Given the description of an element on the screen output the (x, y) to click on. 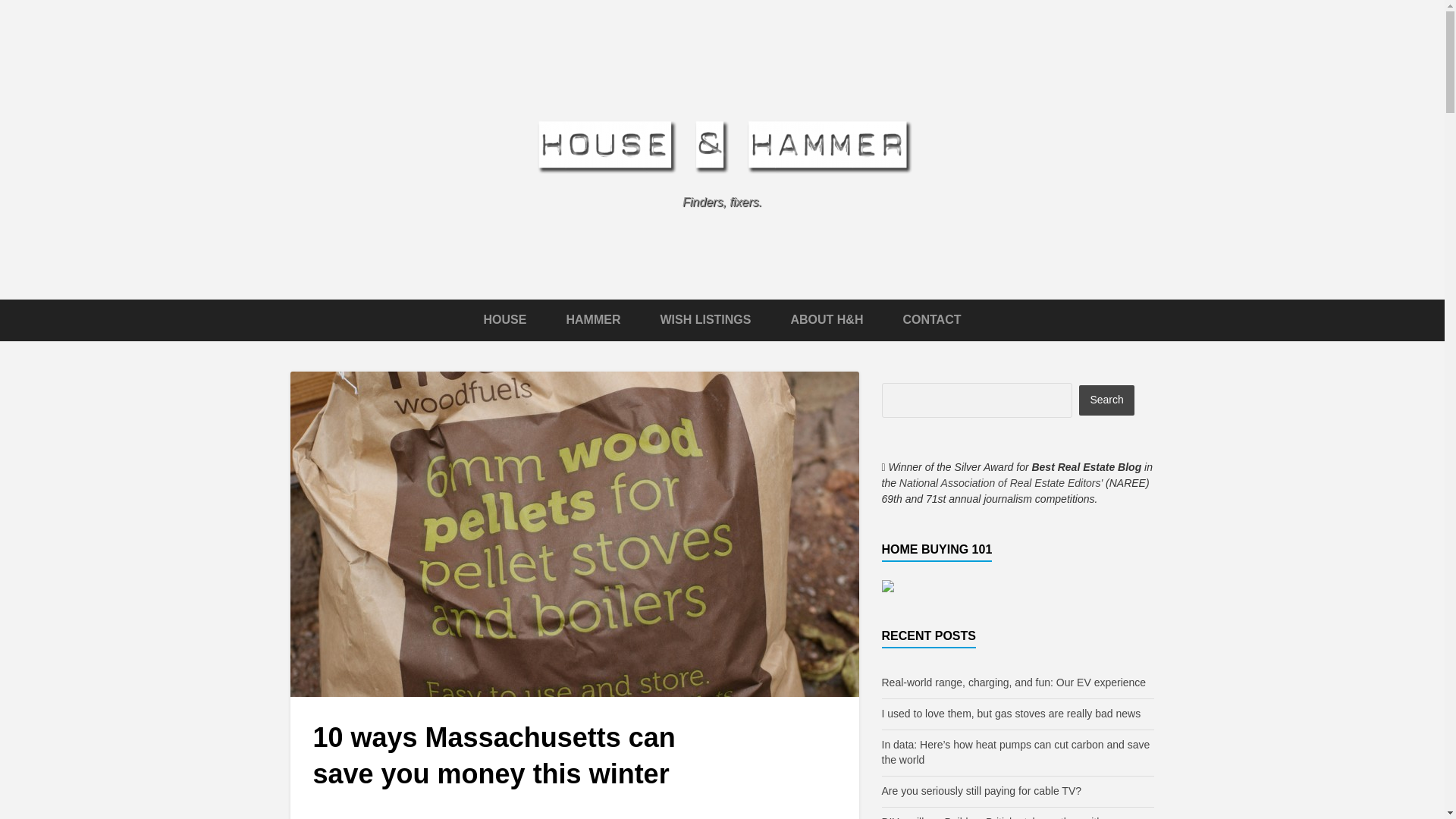
WISH LISTINGS (705, 318)
HOUSE (505, 318)
HAMMER (593, 318)
Search (1106, 399)
CONTACT (931, 318)
